Given the description of an element on the screen output the (x, y) to click on. 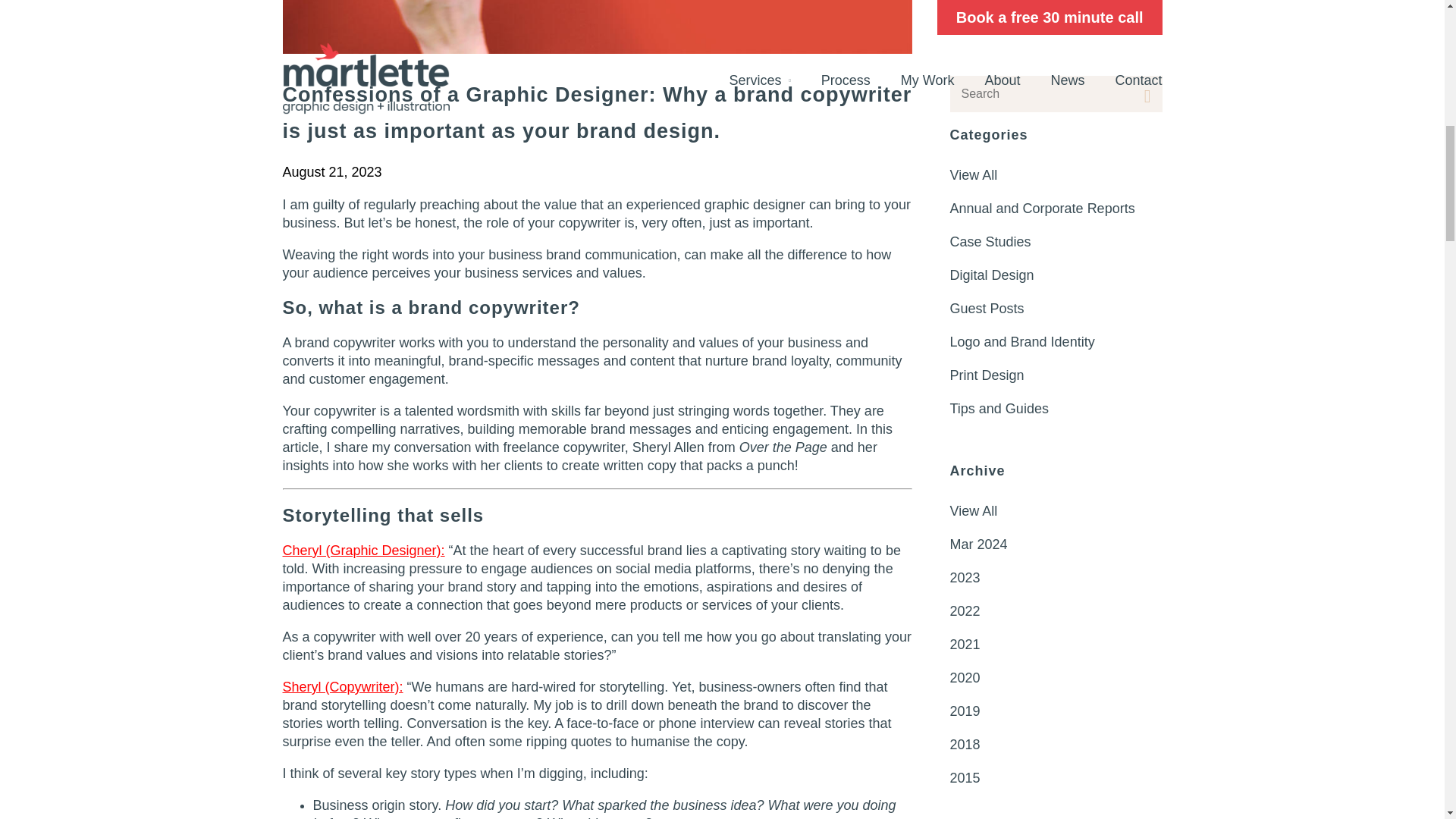
2015 (1055, 126)
2018 (1055, 92)
2020 (1055, 26)
2021 (1055, 4)
2019 (1055, 59)
